Given the description of an element on the screen output the (x, y) to click on. 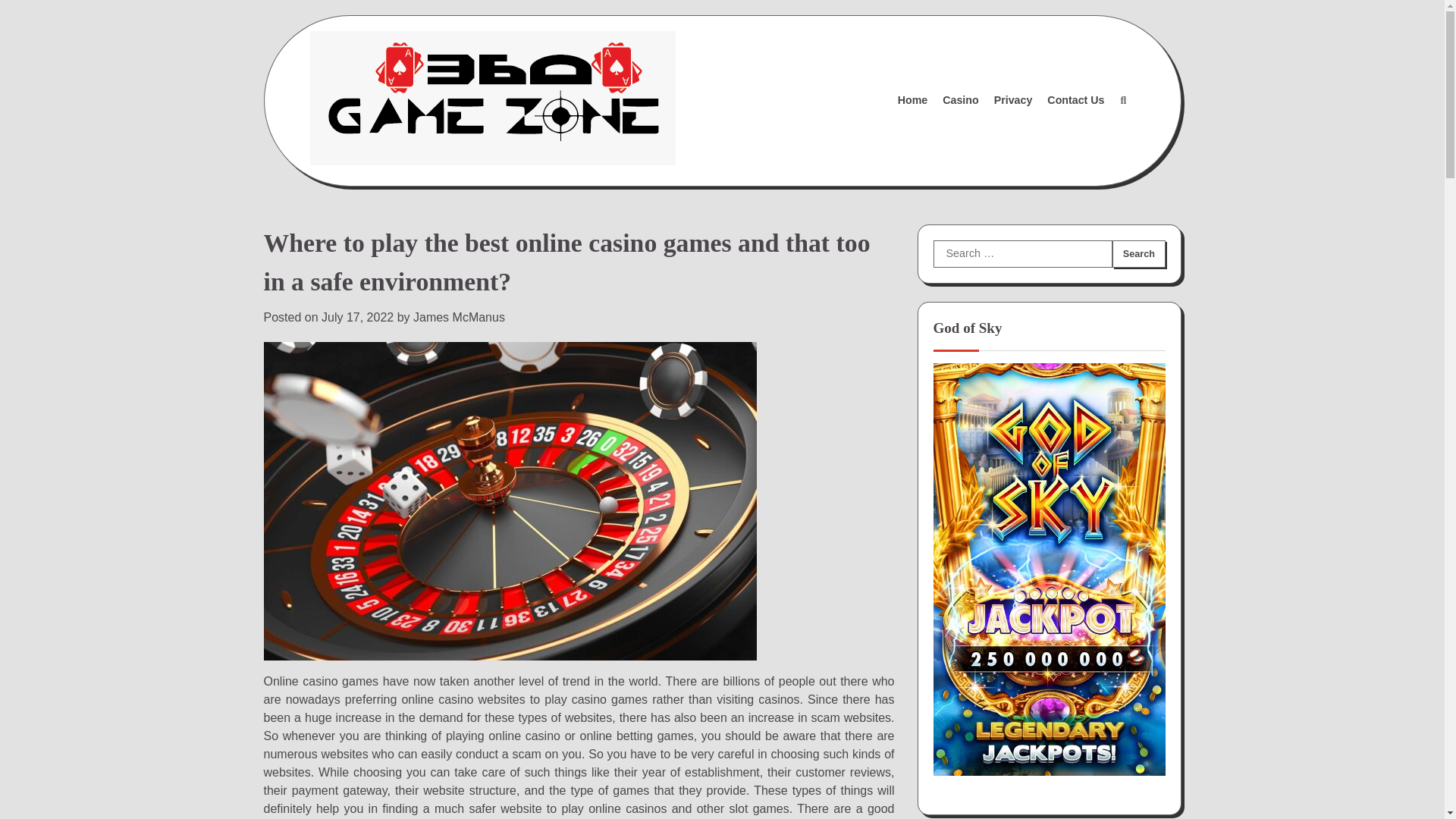
Search (1138, 253)
Home (912, 100)
Casino (959, 100)
James McManus (459, 317)
Search (1086, 136)
Search (1123, 100)
Search (1138, 253)
Contact Us (1075, 100)
July 17, 2022 (357, 317)
Search (1138, 253)
Privacy (1014, 100)
